Given the description of an element on the screen output the (x, y) to click on. 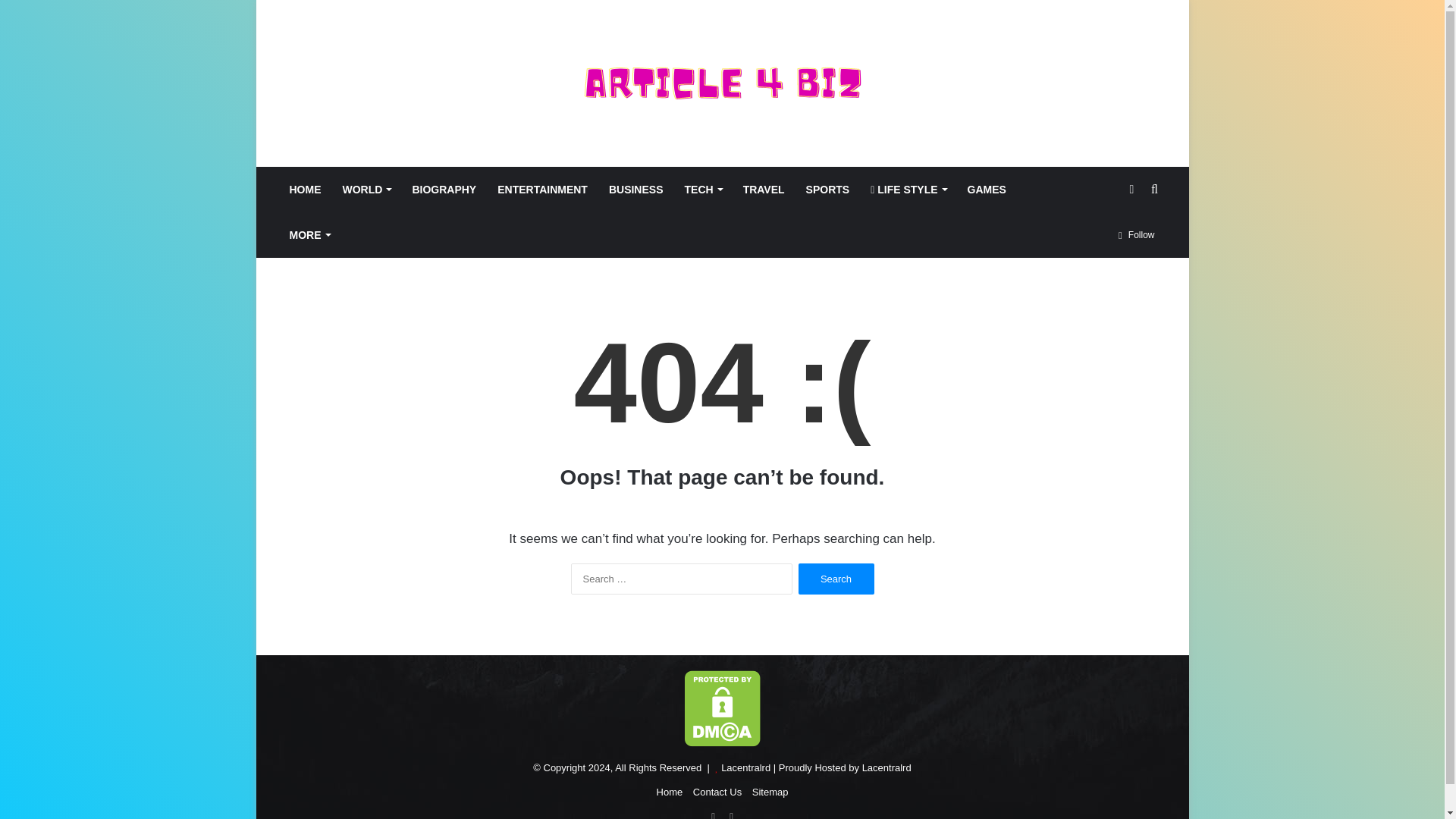
Follow (1136, 234)
Lacentralrd (745, 767)
HOME (305, 189)
Facebook (712, 813)
Home (669, 791)
Contact Us (717, 791)
GAMES (986, 189)
WORLD (366, 189)
TRAVEL (763, 189)
Lacentralrd (886, 767)
